Given the description of an element on the screen output the (x, y) to click on. 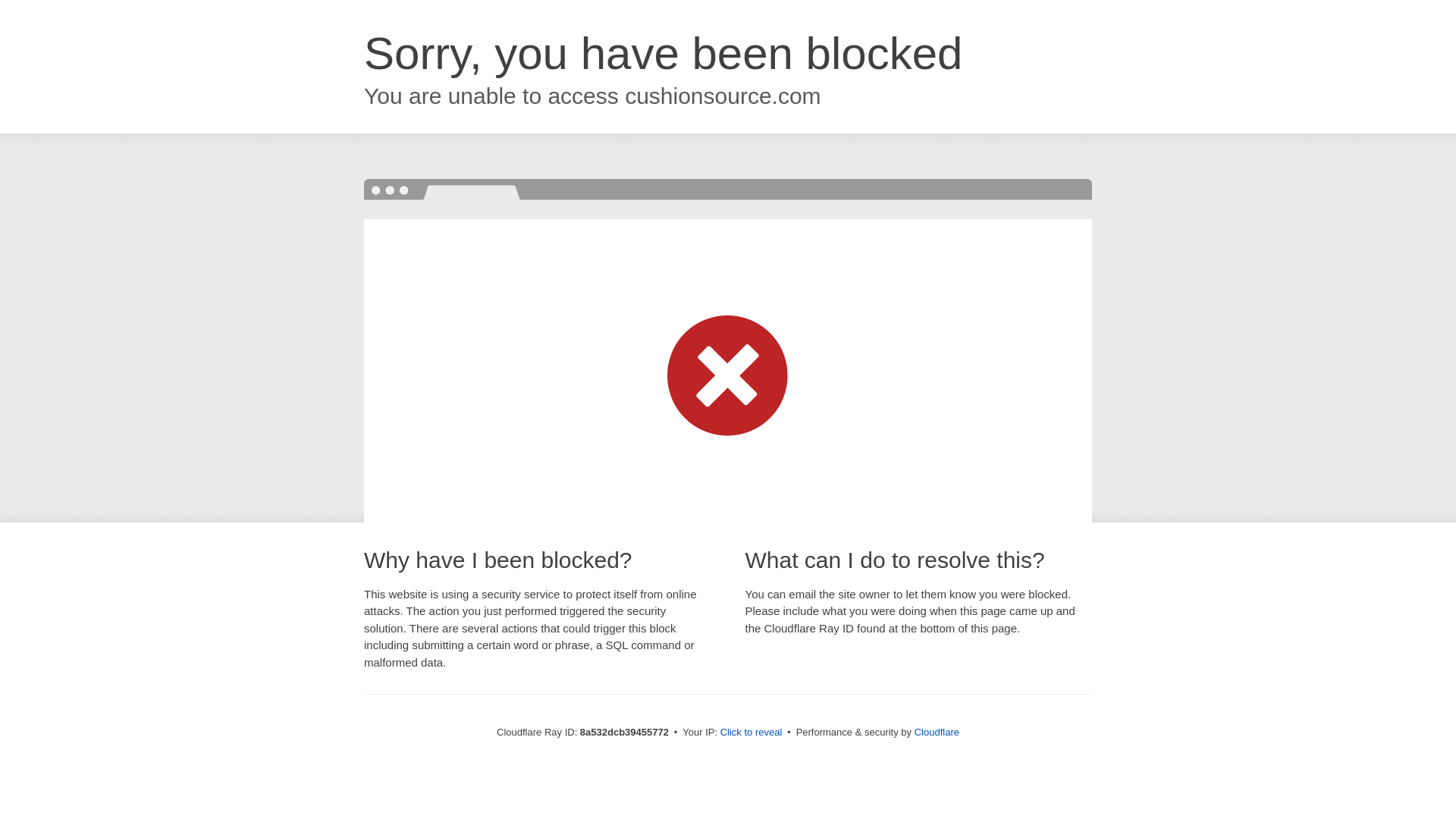
Cloudflare (936, 731)
Click to reveal (751, 732)
